Given the description of an element on the screen output the (x, y) to click on. 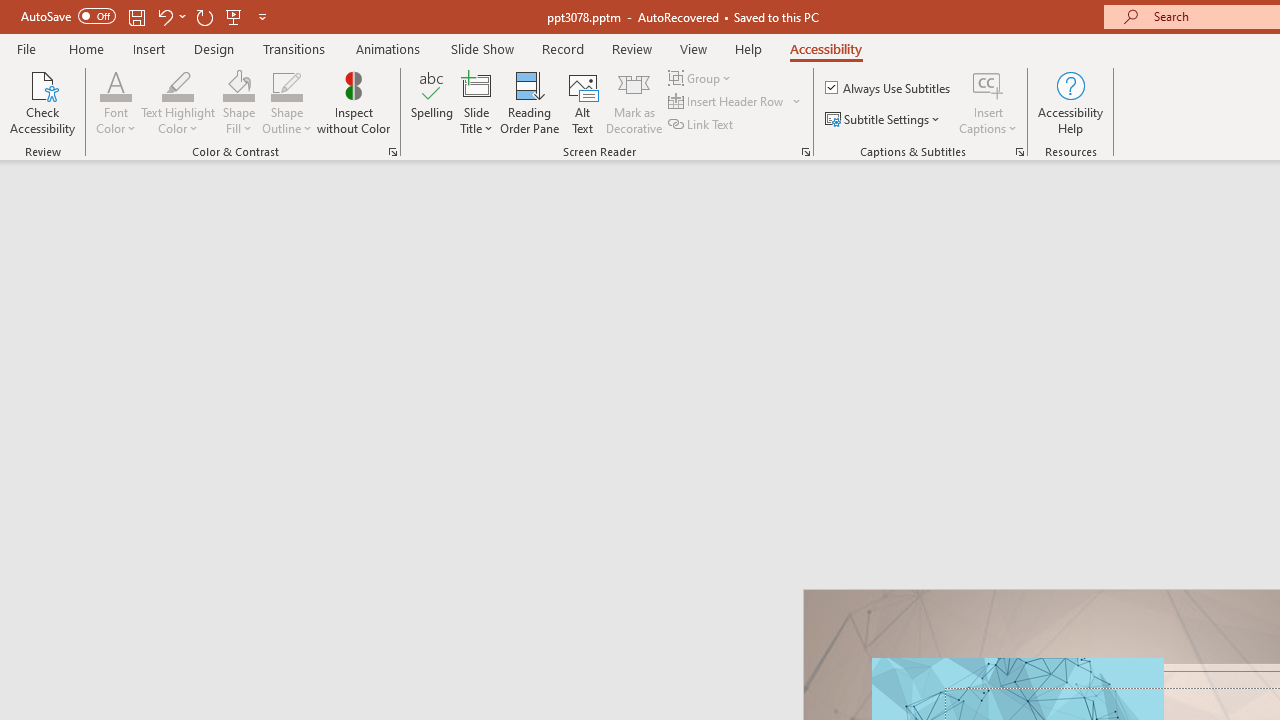
Mark as Decorative (634, 102)
